Given the description of an element on the screen output the (x, y) to click on. 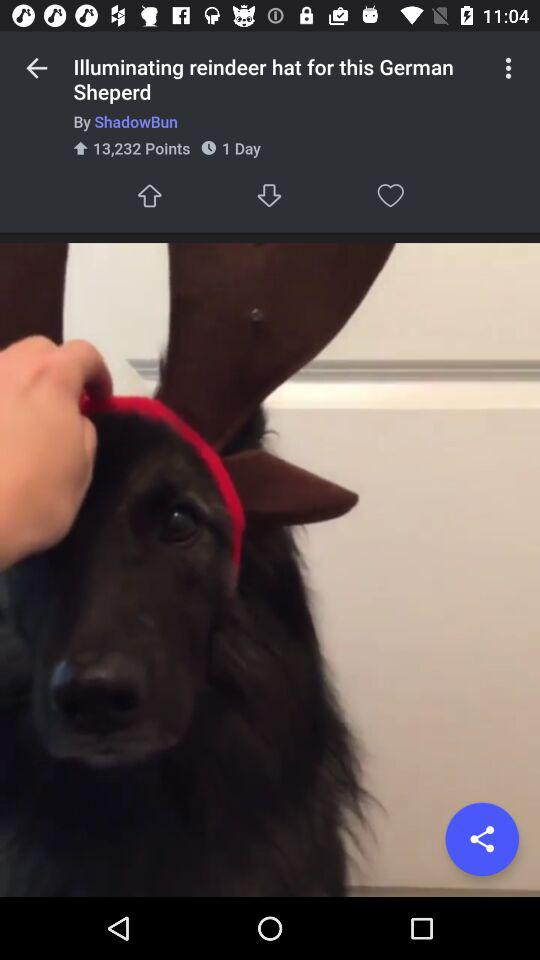
share the article (482, 839)
